Given the description of an element on the screen output the (x, y) to click on. 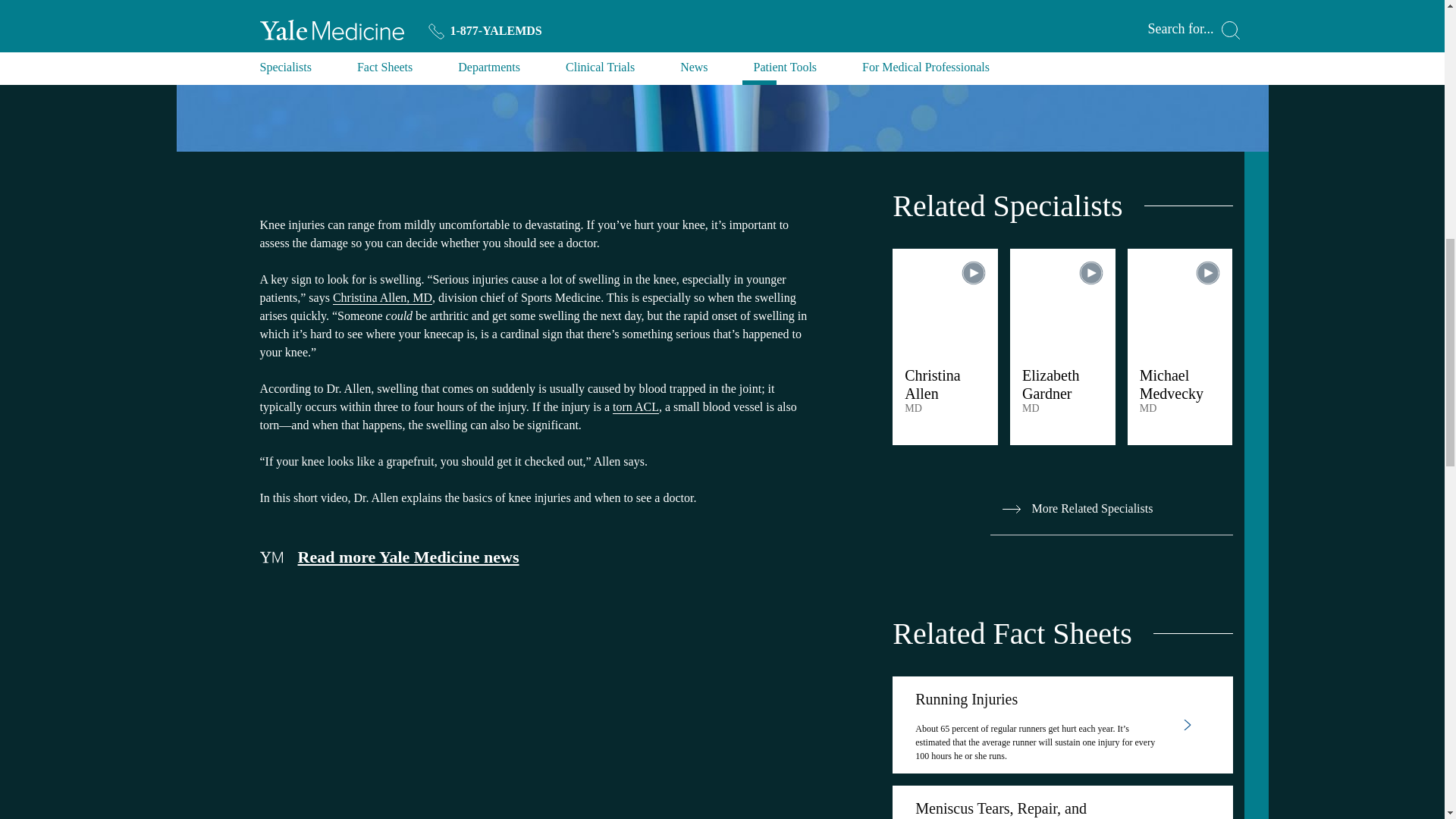
torn ACL (635, 407)
Settings (1196, 131)
More Related Specialists (1111, 509)
Enter fullscreen (1248, 131)
1 (1126, 131)
Mute (1083, 131)
Christina Allen, MD (382, 297)
Enable captions (1169, 131)
Read more Yale Medicine news (534, 557)
